Given the description of an element on the screen output the (x, y) to click on. 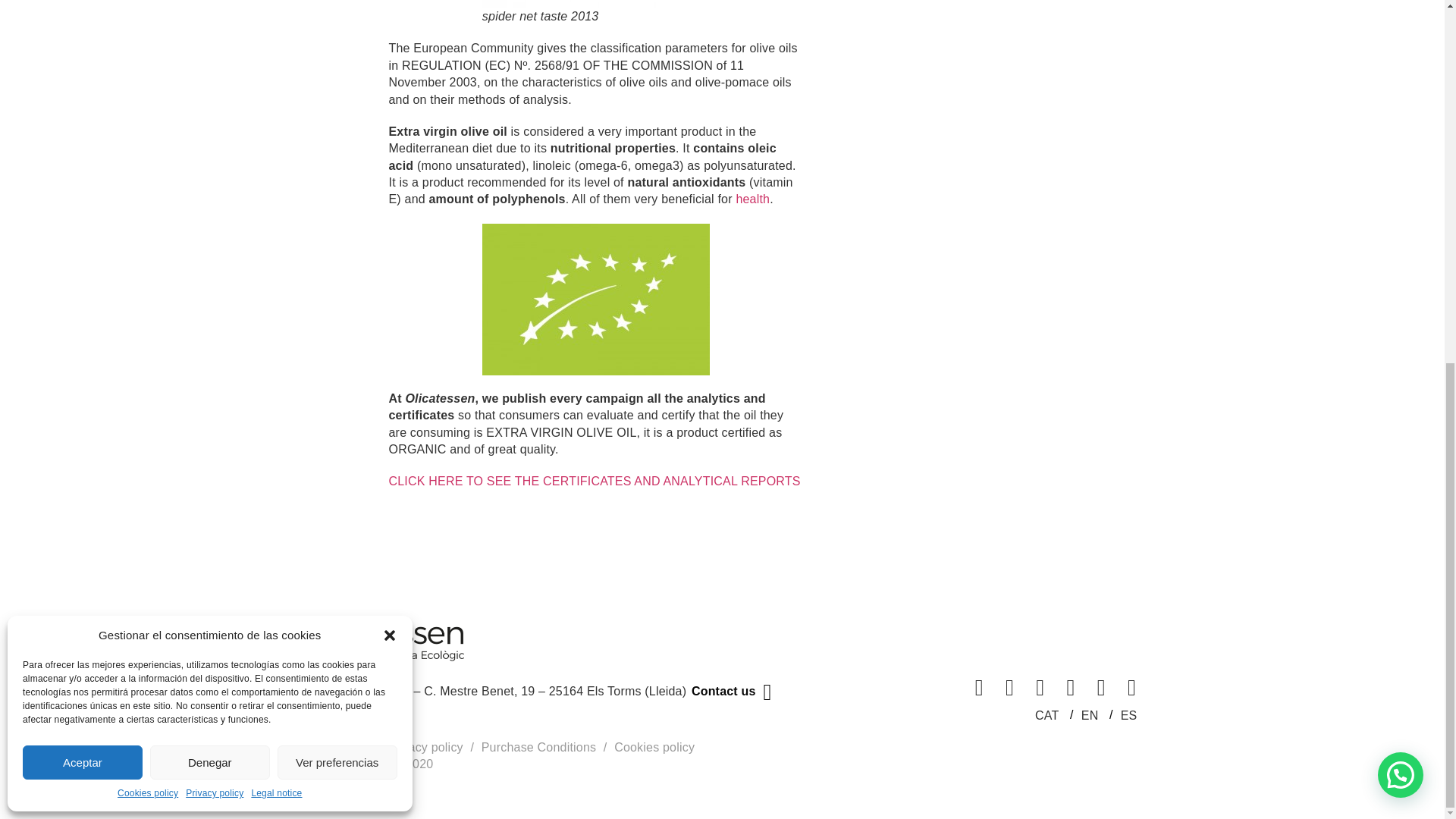
Cookies policy (147, 145)
Legal notice (275, 145)
Aceptar (82, 114)
Privacy policy (214, 145)
Denegar (209, 114)
Ver preferencias (337, 114)
